Given the description of an element on the screen output the (x, y) to click on. 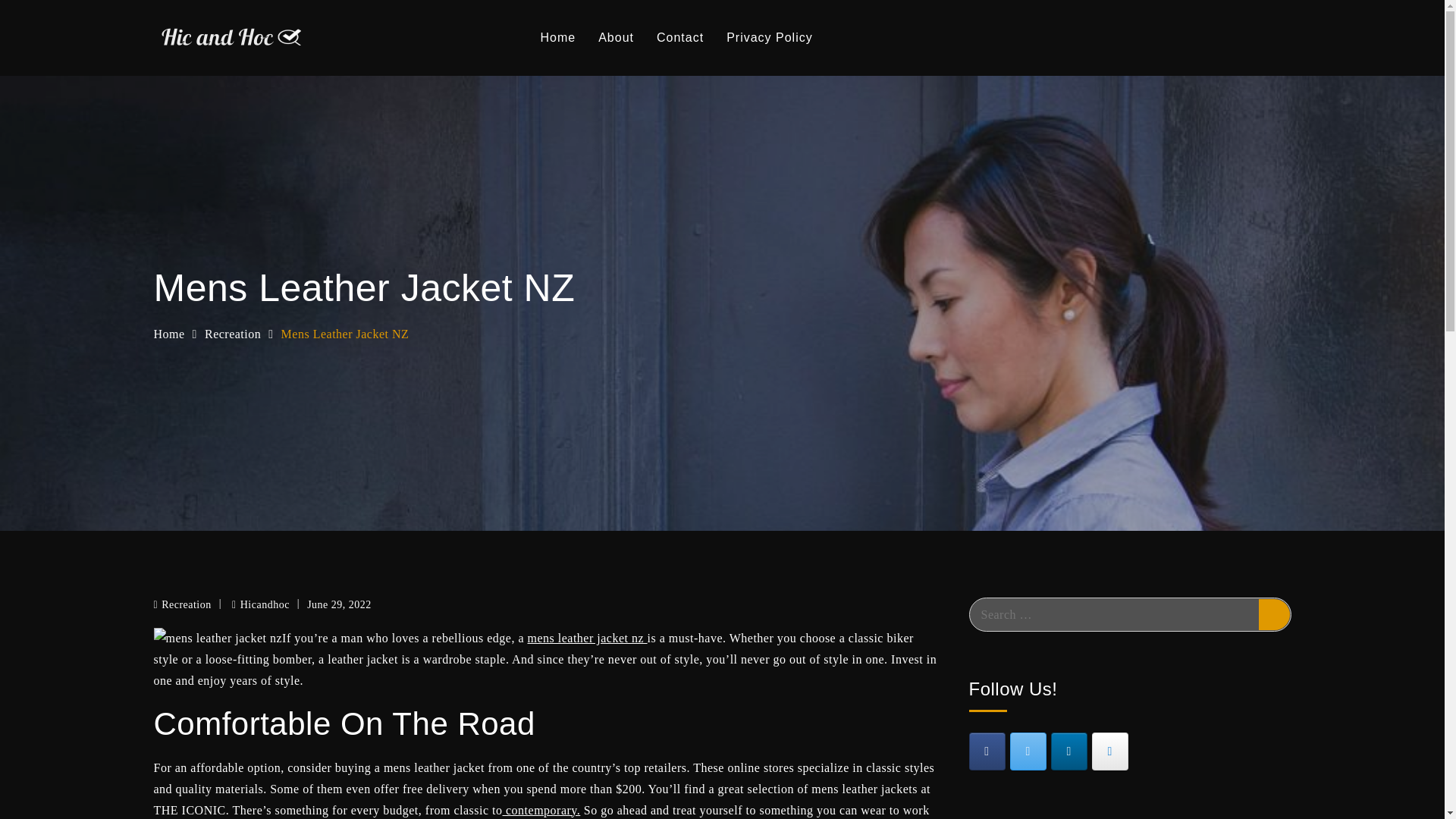
Hic and Hoc on Linkedin (1069, 751)
Home (168, 333)
Hic and Hoc (387, 49)
contemporary. (540, 809)
Privacy Policy (769, 38)
mens leather jacket nz (586, 637)
Hic and Hoc on X Twitter (1028, 751)
Recreation (232, 333)
Contact (679, 38)
Hic and Hoc on Facebook (987, 751)
